Given the description of an element on the screen output the (x, y) to click on. 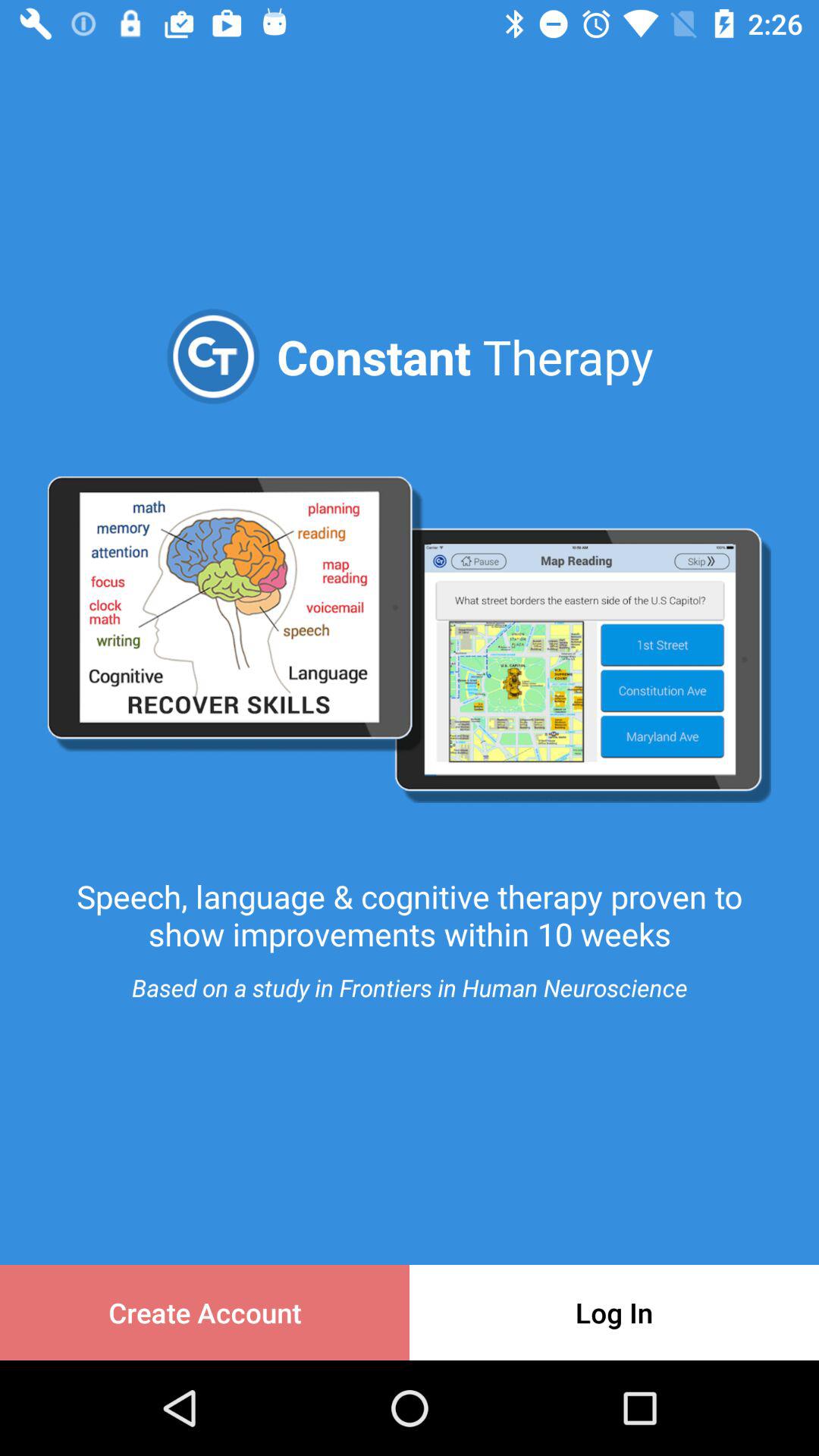
select the item at the bottom left corner (204, 1312)
